Given the description of an element on the screen output the (x, y) to click on. 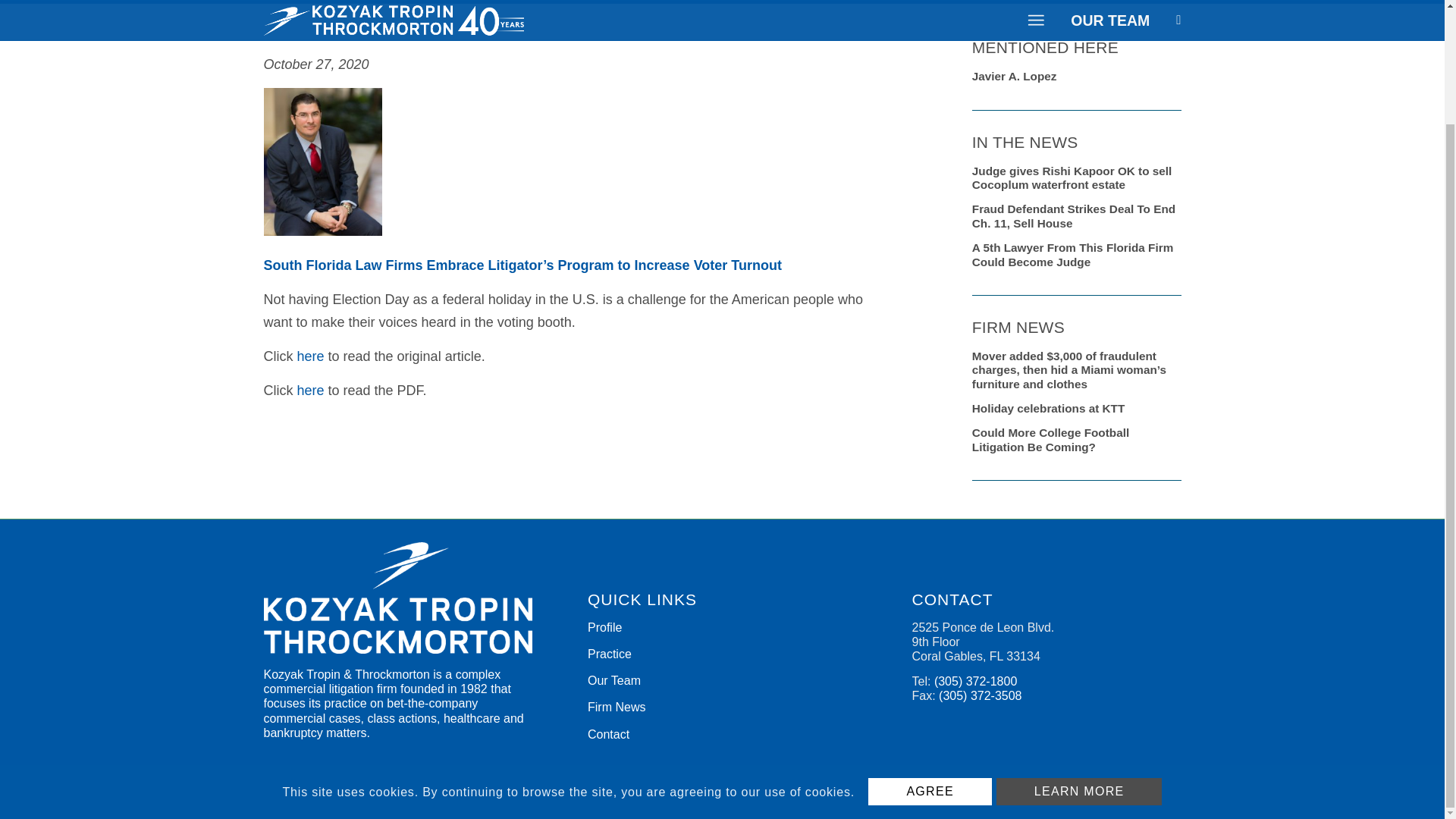
A 5th Lawyer From This Florida Firm Could Become Judge (1076, 252)
Fraud Defendant Strikes Deal To End Ch. 11, Sell House (1076, 214)
Could More College Football Litigation Be Coming? (1076, 437)
Holiday celebrations at KTT (1076, 406)
Javier A. Lopez (1076, 74)
Page 1 (579, 311)
